Given the description of an element on the screen output the (x, y) to click on. 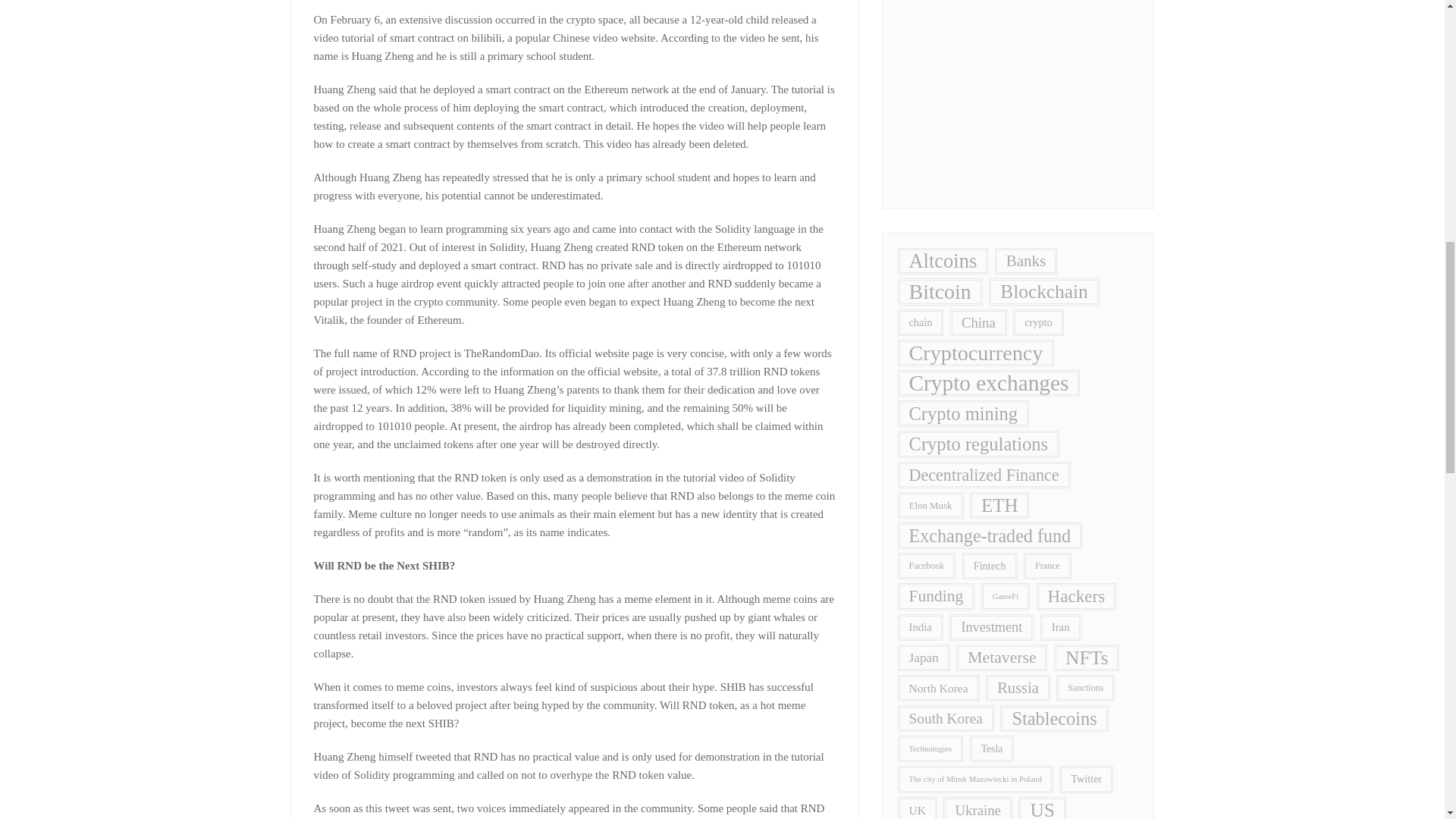
Altcoins (943, 261)
Bitcoin explained and made simple (1018, 88)
Banks (1025, 261)
Bitcoin (940, 291)
